Given the description of an element on the screen output the (x, y) to click on. 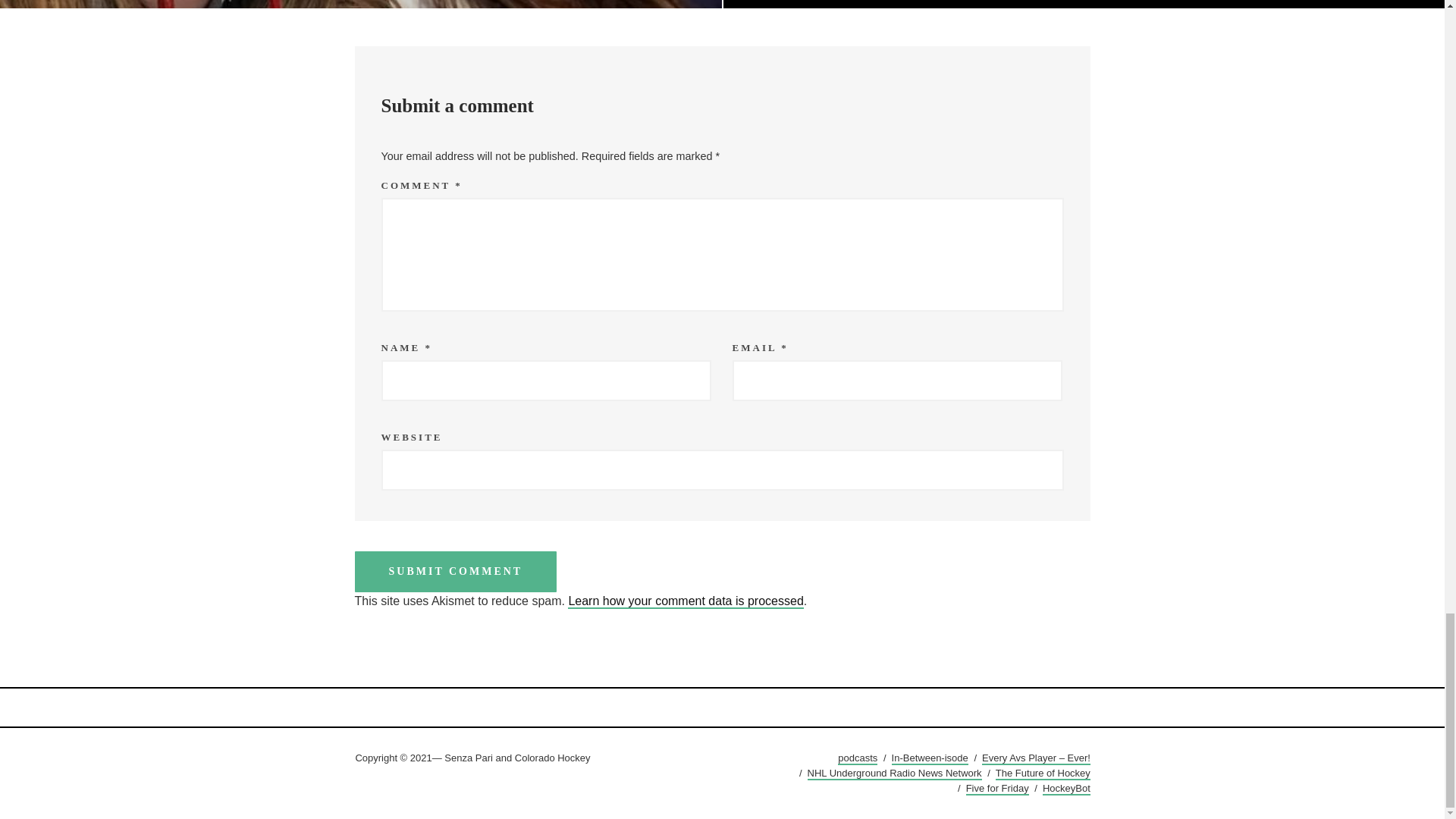
Submit comment (456, 571)
